Given the description of an element on the screen output the (x, y) to click on. 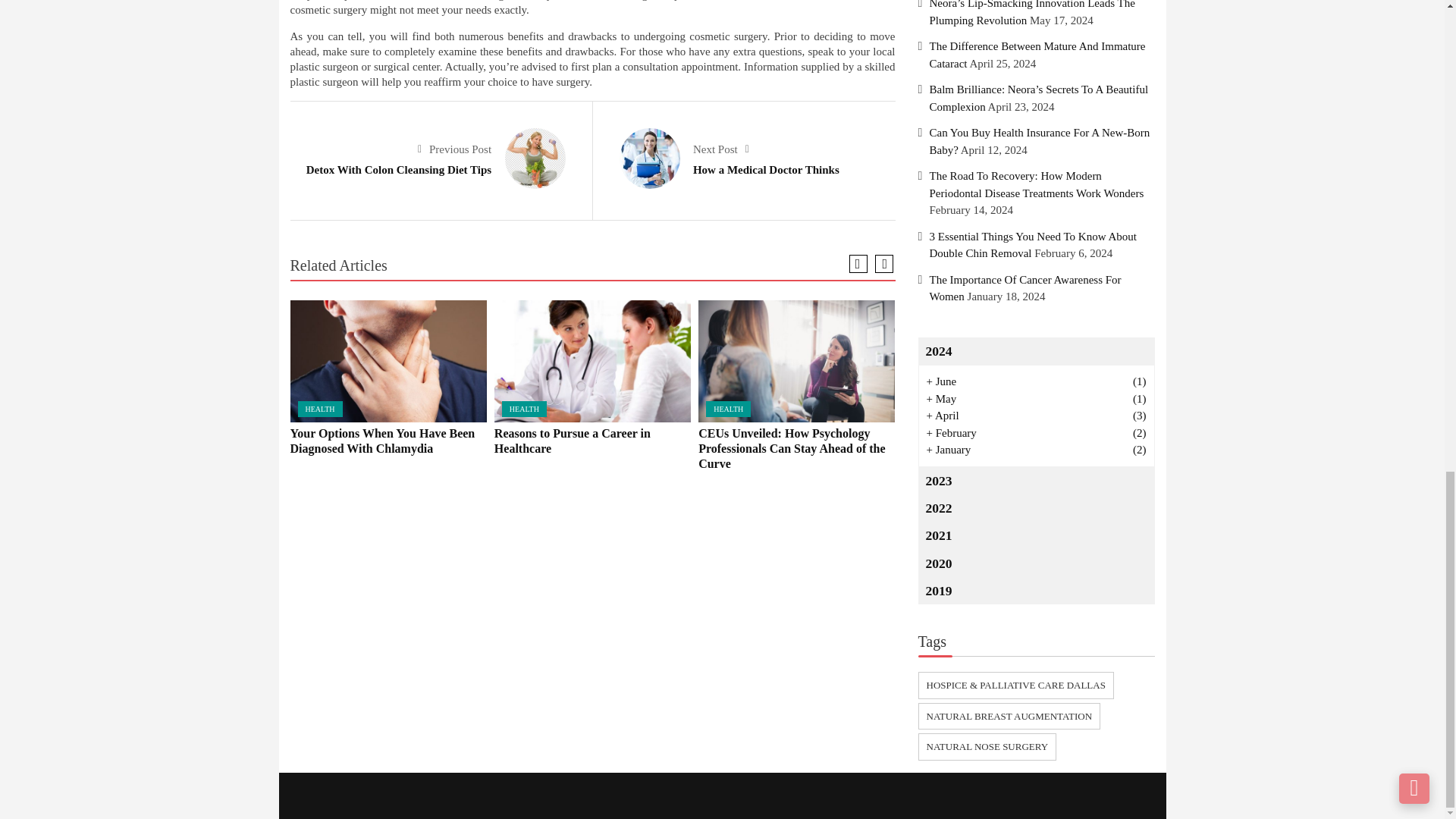
Reasons to Pursue a Career in Healthcare (592, 361)
Your Options When You Have Been Diagnosed With Chlamydia (387, 361)
